Given the description of an element on the screen output the (x, y) to click on. 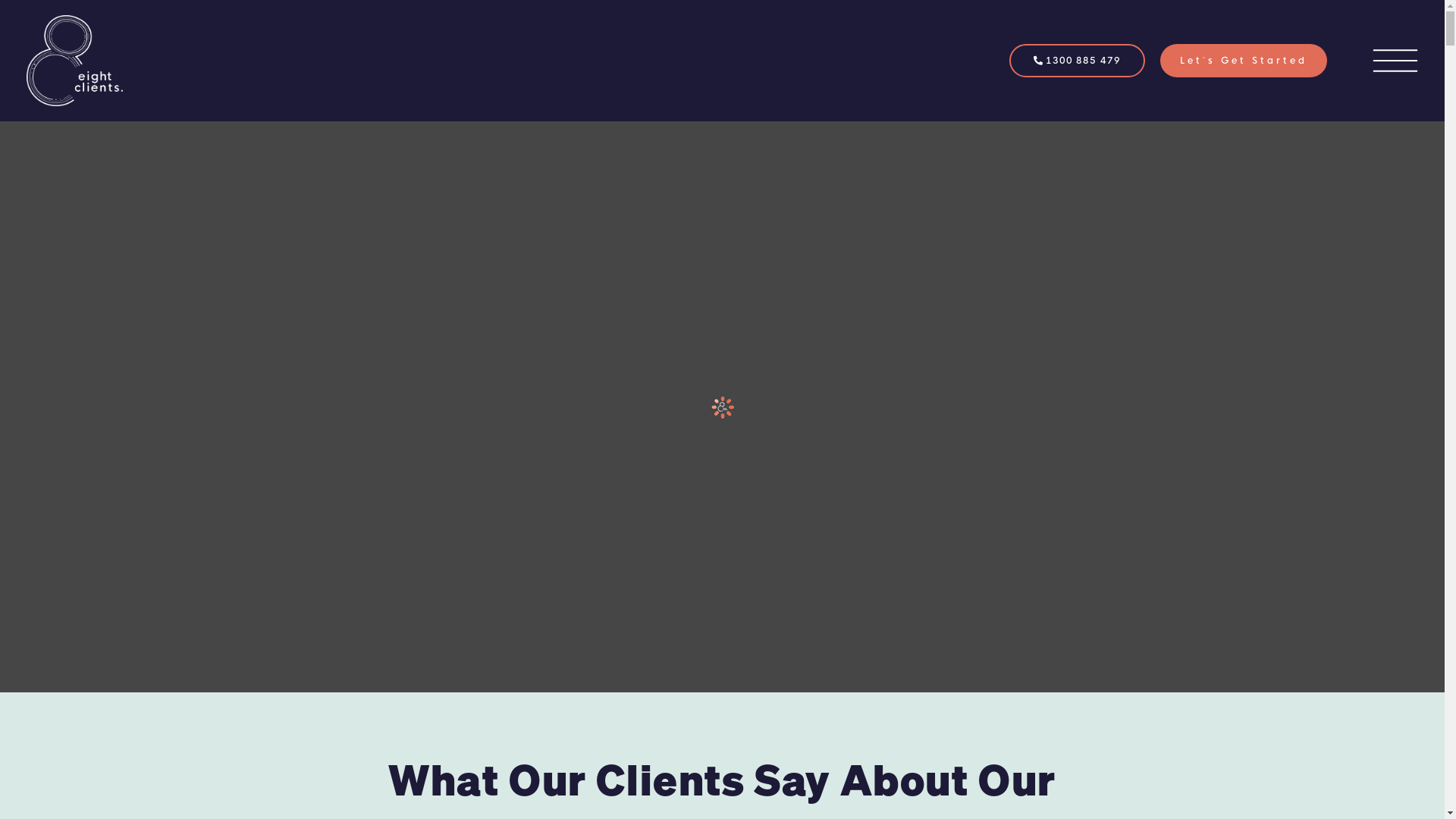
1300 885 479 Element type: text (1077, 60)
hamburger Element type: hover (1395, 60)
header-logo-1.png Element type: hover (74, 60)
